Given the description of an element on the screen output the (x, y) to click on. 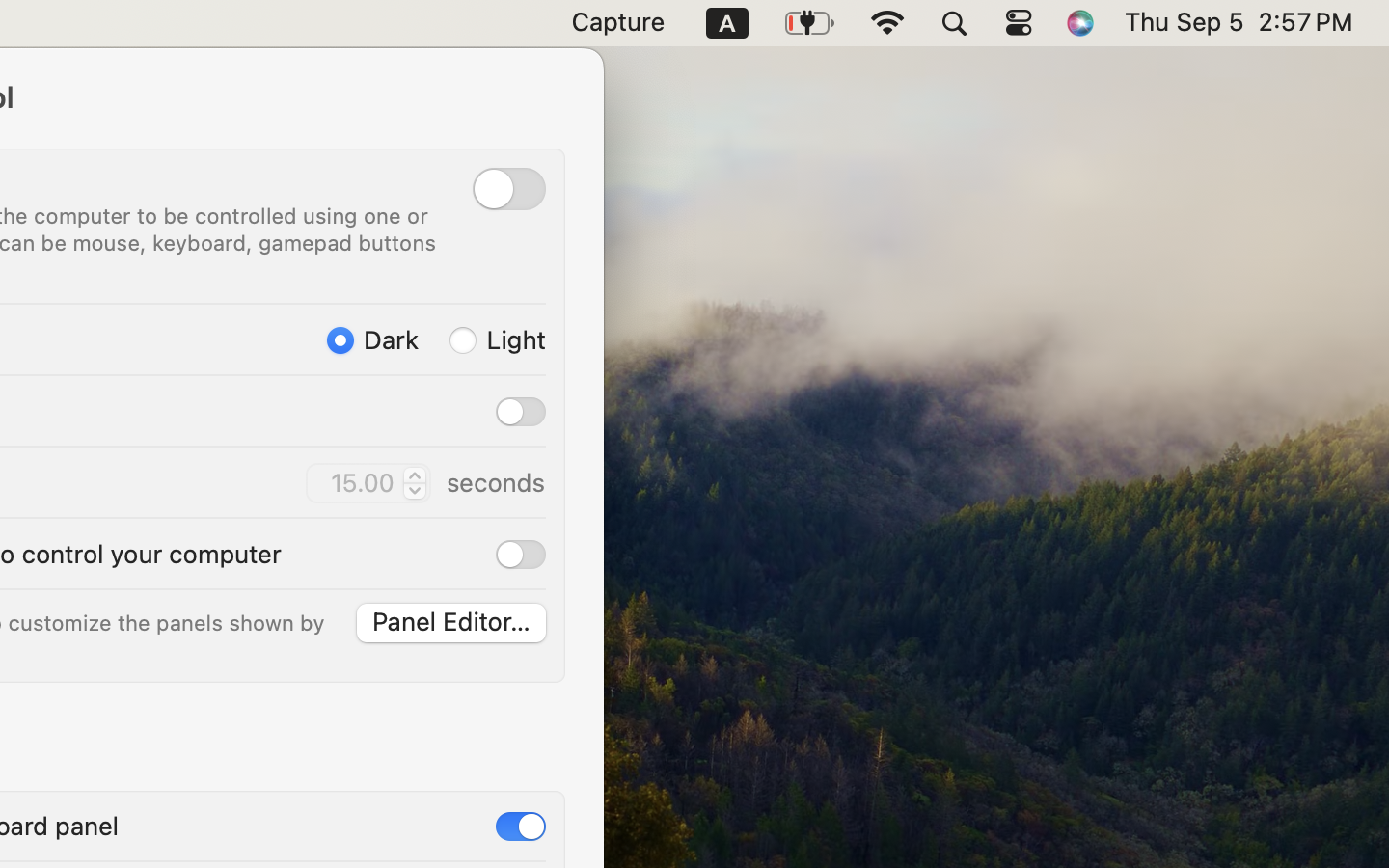
15.00 Element type: AXTextField (367, 482)
15.0 Element type: AXIncrementor (412, 482)
